Given the description of an element on the screen output the (x, y) to click on. 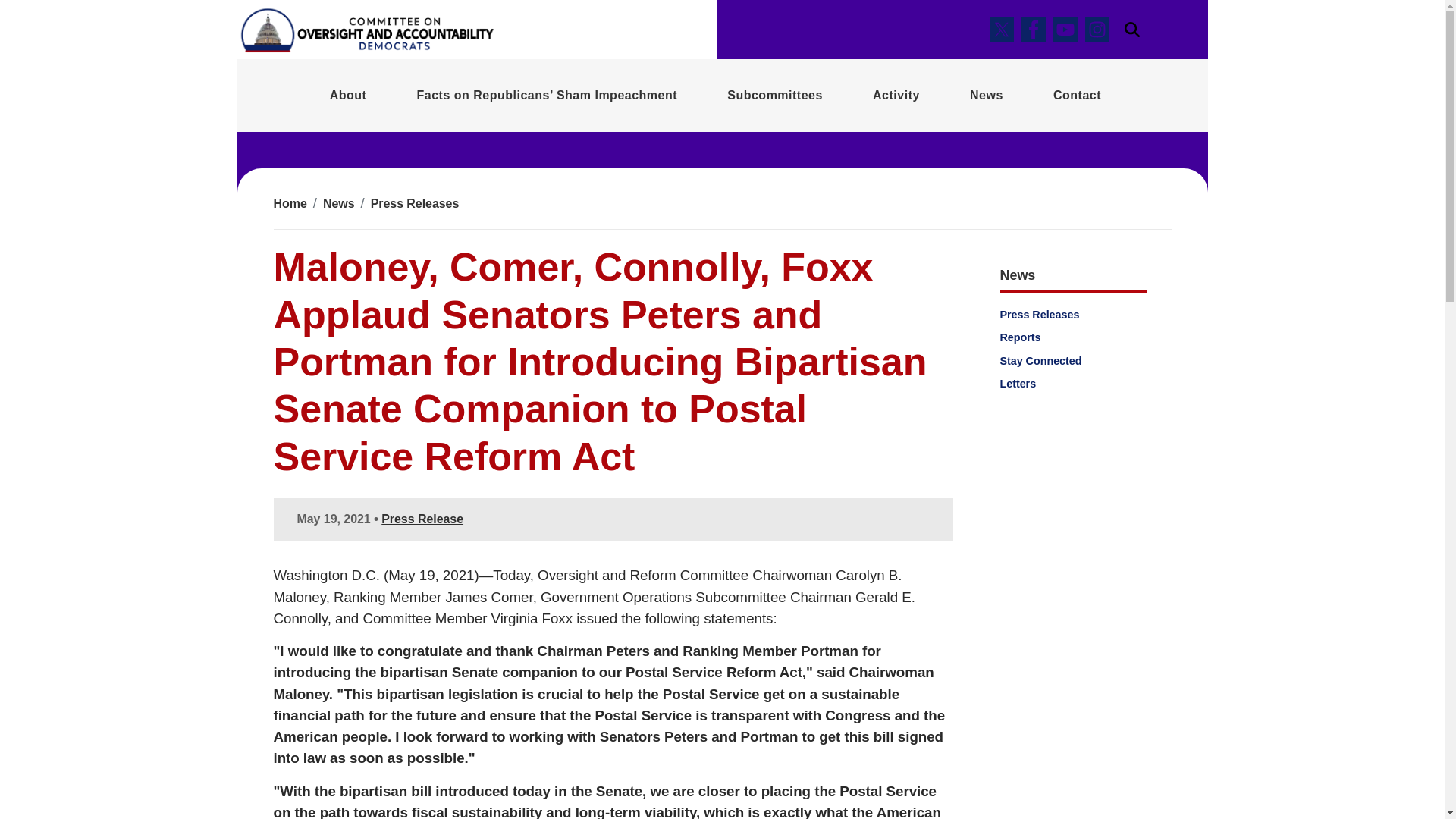
News (339, 203)
Press Releases (415, 203)
Subcommittees (775, 94)
Activity (895, 94)
About (348, 94)
Instagram Icon (1096, 29)
X Icon (1000, 29)
Contact (1077, 94)
Home (289, 203)
